Given the description of an element on the screen output the (x, y) to click on. 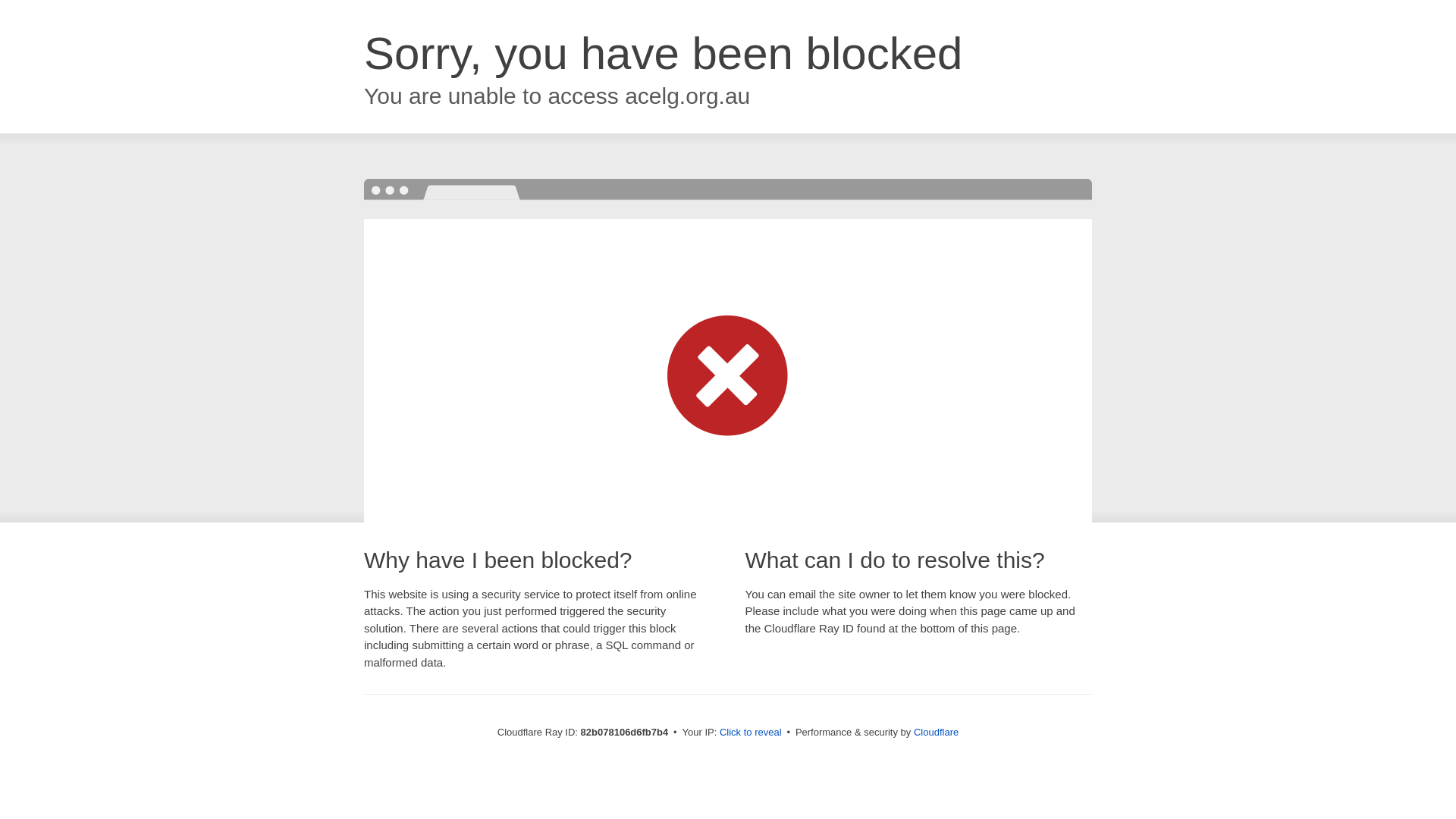
Cloudflare Element type: text (935, 731)
Click to reveal Element type: text (750, 732)
